Given the description of an element on the screen output the (x, y) to click on. 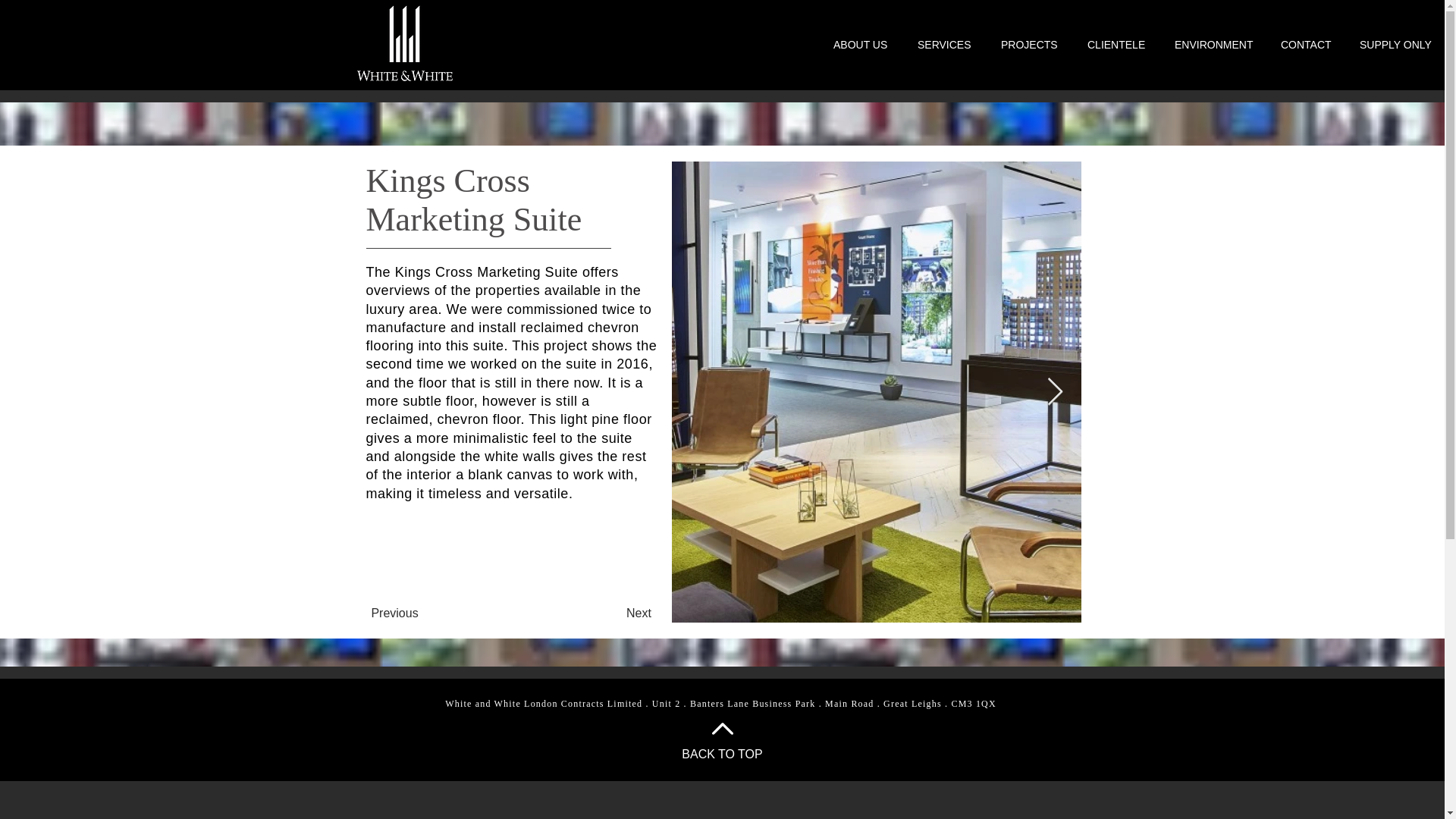
SUPPLY ONLY (1389, 44)
Next (638, 613)
ENVIRONMENT (1209, 44)
CLIENTELE (1112, 44)
SERVICES (939, 44)
ABOUT US (855, 44)
PROJECTS (1024, 44)
BACK TO TOP (721, 753)
CONTACT (1301, 44)
Previous (394, 613)
